Given the description of an element on the screen output the (x, y) to click on. 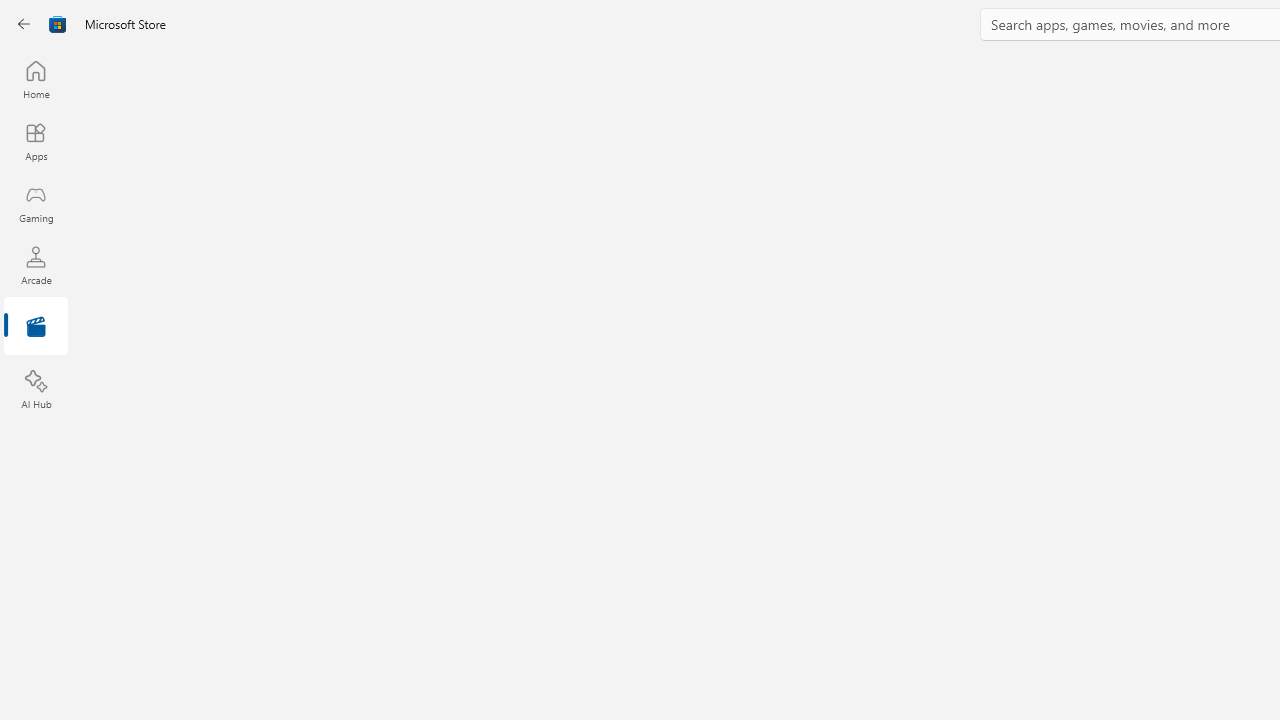
Class: Image (58, 24)
Arcade (35, 265)
Back (24, 24)
Apps (35, 141)
Home (35, 79)
Gaming (35, 203)
Entertainment (35, 327)
AI Hub (35, 390)
